Given the description of an element on the screen output the (x, y) to click on. 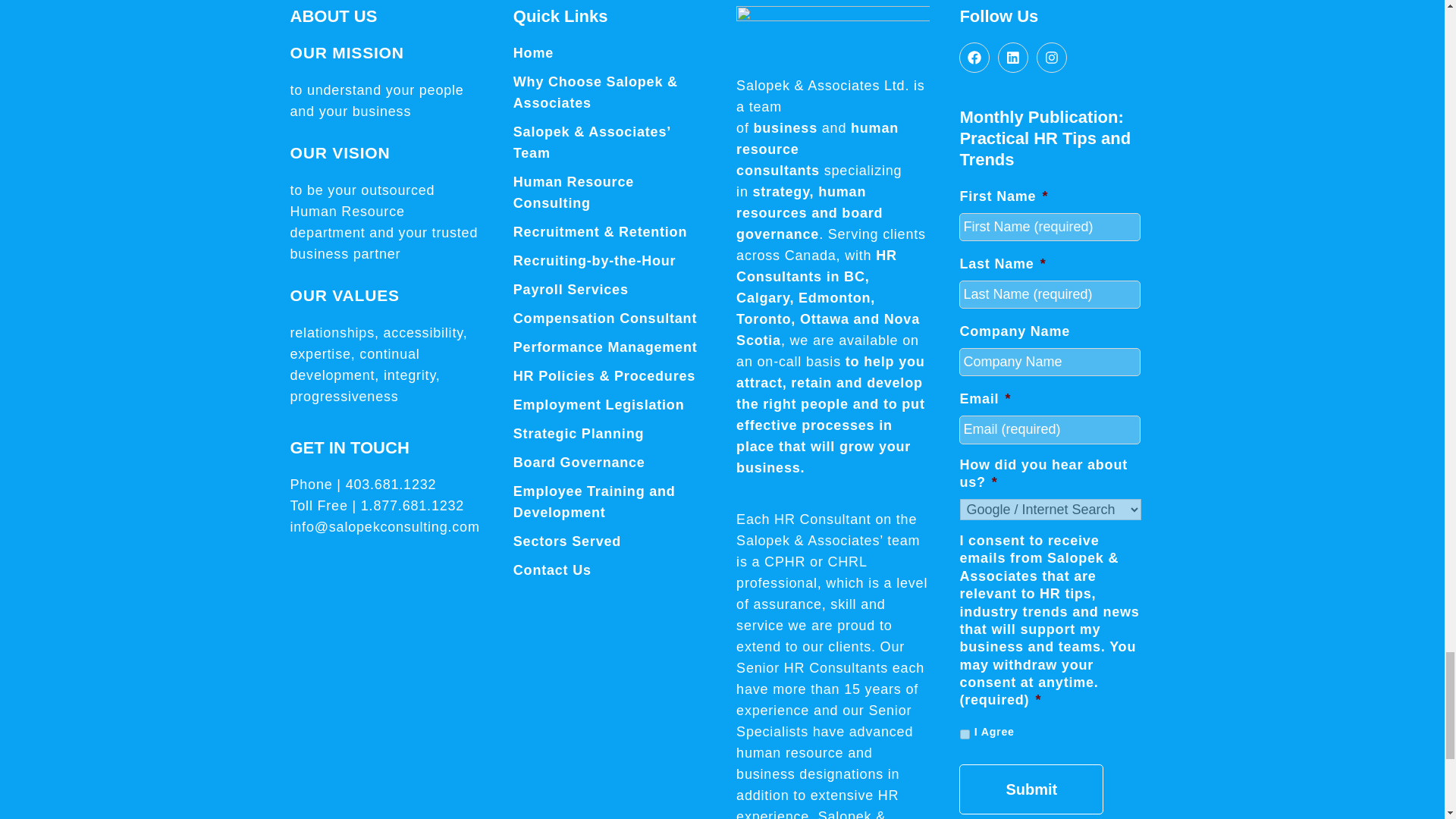
instagram (1051, 57)
linkedin (1012, 57)
Submit (1031, 789)
I Agree (964, 734)
facebook (974, 57)
